Given the description of an element on the screen output the (x, y) to click on. 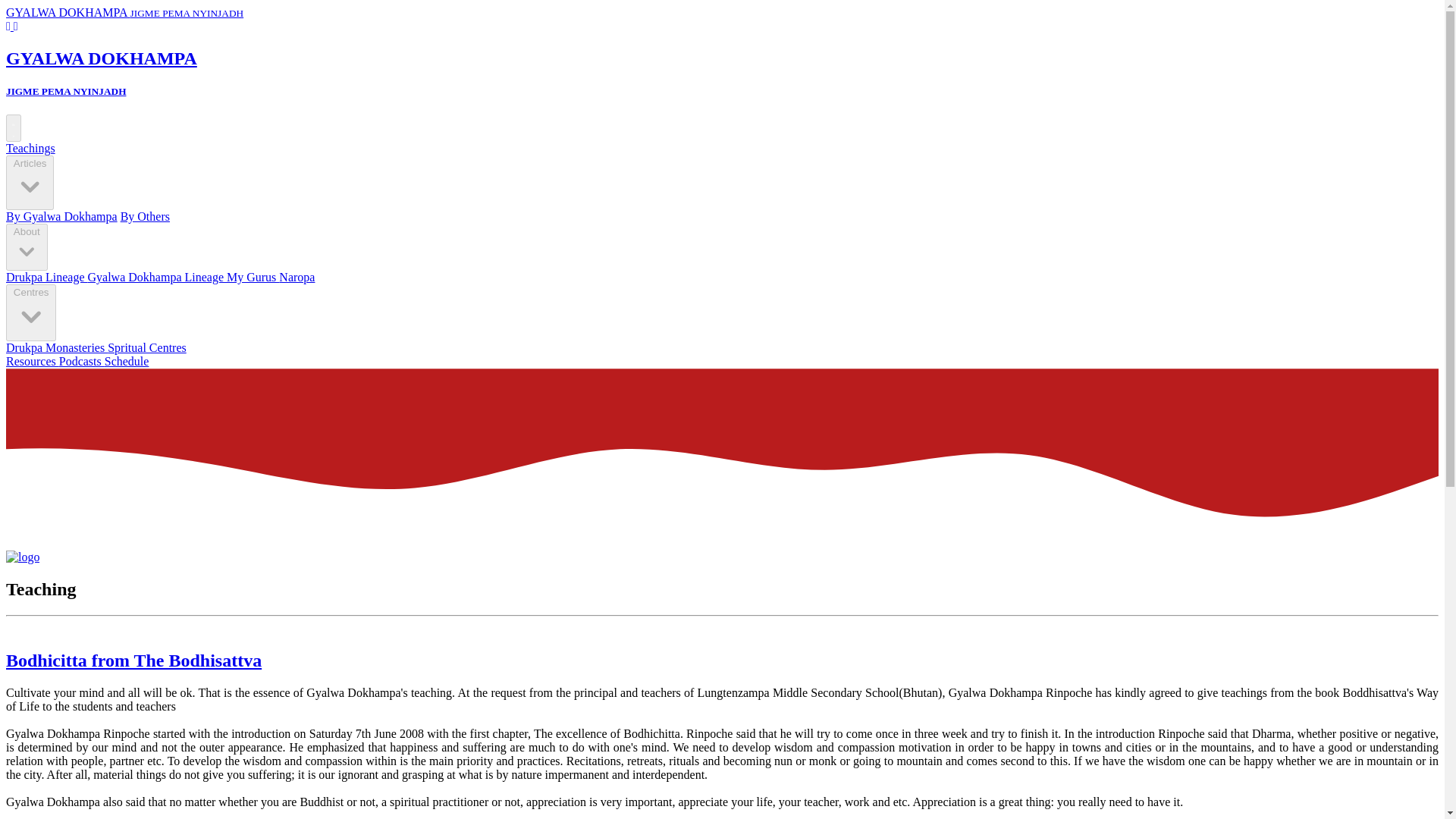
Resources (32, 360)
Drukpa Lineage (46, 277)
Schedule (126, 360)
Podcasts (81, 360)
GYALWA DOKHAMPA JIGME PEMA NYINJADH (124, 11)
Naropa (296, 277)
Centres (30, 312)
Bodhicitta from The Bodhisattva (133, 660)
Drukpa Monasteries (56, 347)
By Gyalwa Dokhampa (61, 215)
